Given the description of an element on the screen output the (x, y) to click on. 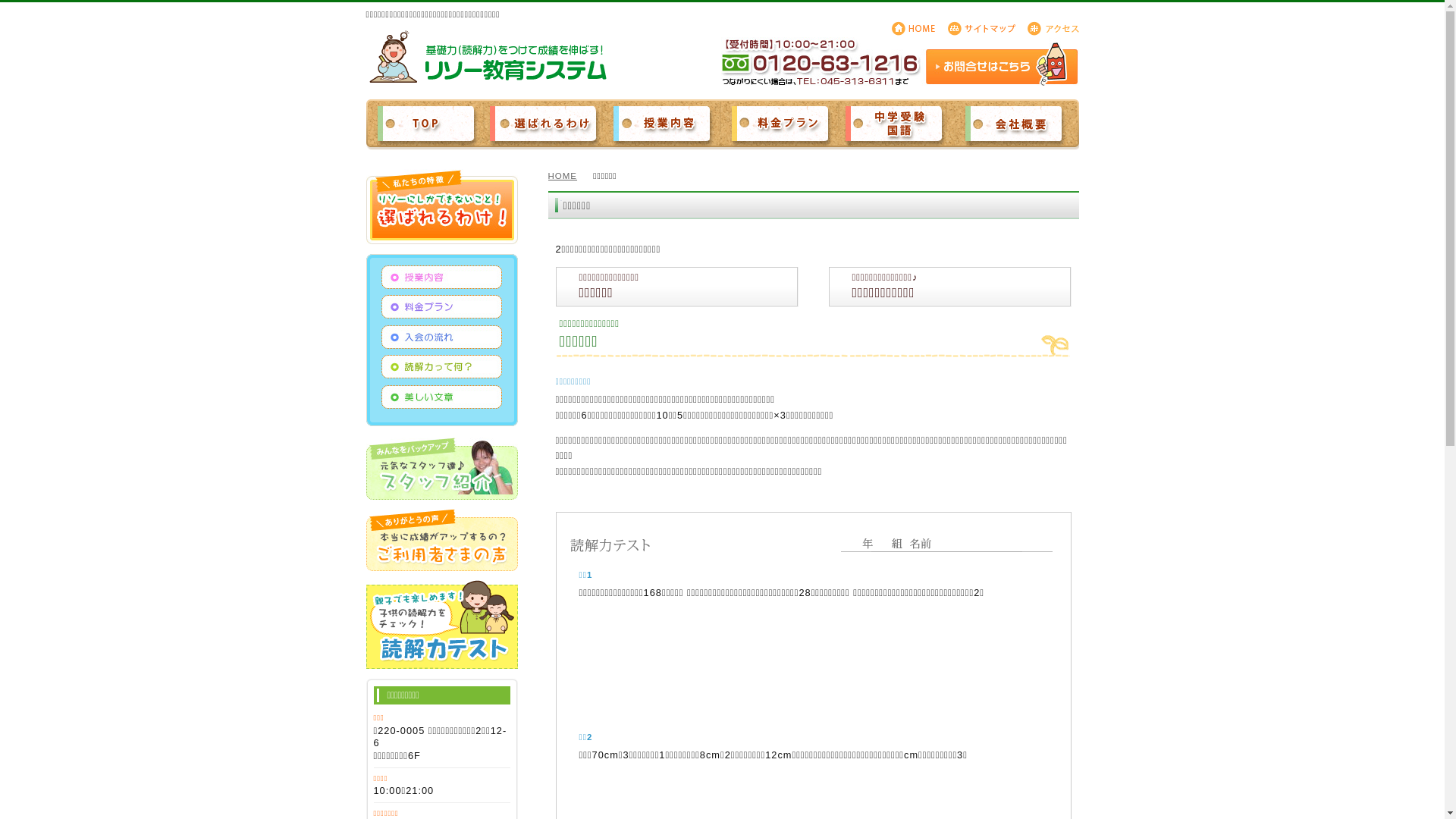
HOME Element type: text (568, 175)
